Given the description of an element on the screen output the (x, y) to click on. 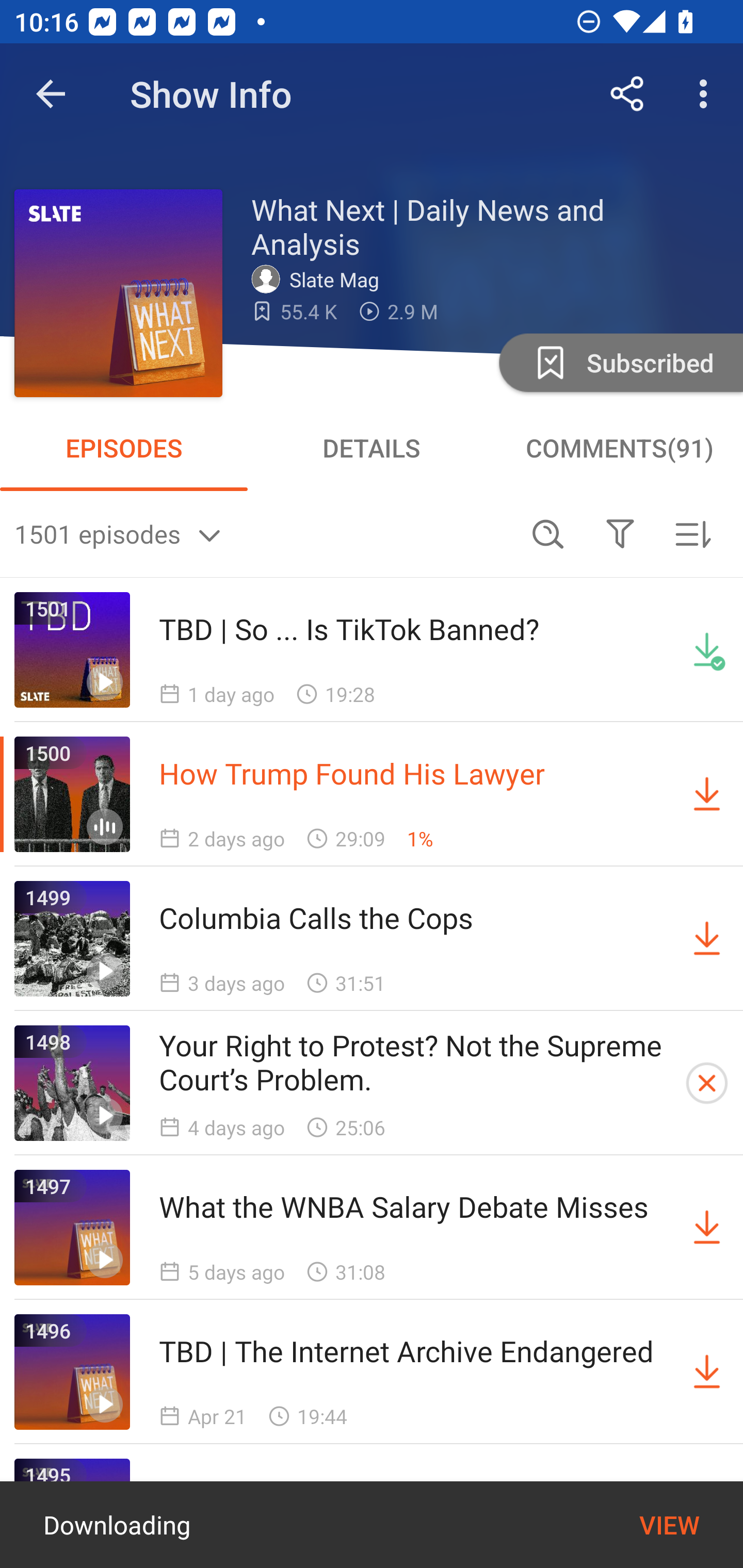
Navigate up (50, 93)
Share (626, 93)
More options (706, 93)
Slate Mag (319, 278)
Unsubscribe Subscribed (619, 361)
EPISODES (123, 447)
DETAILS (371, 447)
COMMENTS(91) (619, 447)
1501 episodes  (262, 533)
 Search (547, 533)
 (619, 533)
 Sorted by newest first (692, 533)
Downloaded (706, 649)
Download (706, 793)
Download (706, 939)
Cancel Downloading (706, 1083)
Download (706, 1227)
Download (706, 1371)
VIEW (669, 1524)
How Trump Found His Lawyer 00:35 / 29:09 (283, 1525)
